Given the description of an element on the screen output the (x, y) to click on. 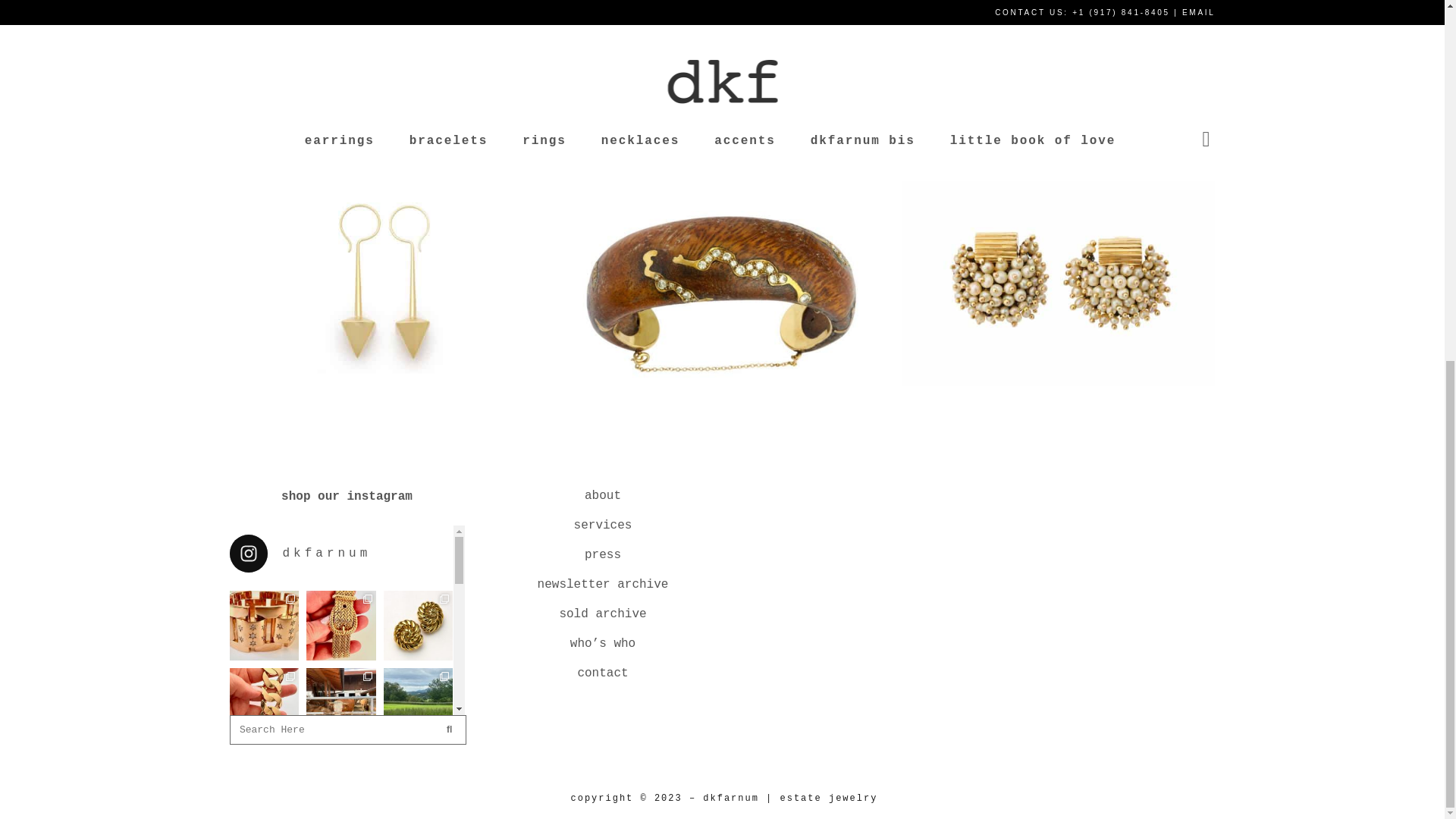
elsa perreti sterling bone cuff (532, 4)
elsa perreti sterling bone cuff (411, 59)
elsa perreti sterling bone cuff (411, 4)
elsa perreti sterling bone cuff (652, 4)
elsa perreti sterling bone cuff (288, 72)
elsa perreti sterling bone cuff (288, 4)
